Given the description of an element on the screen output the (x, y) to click on. 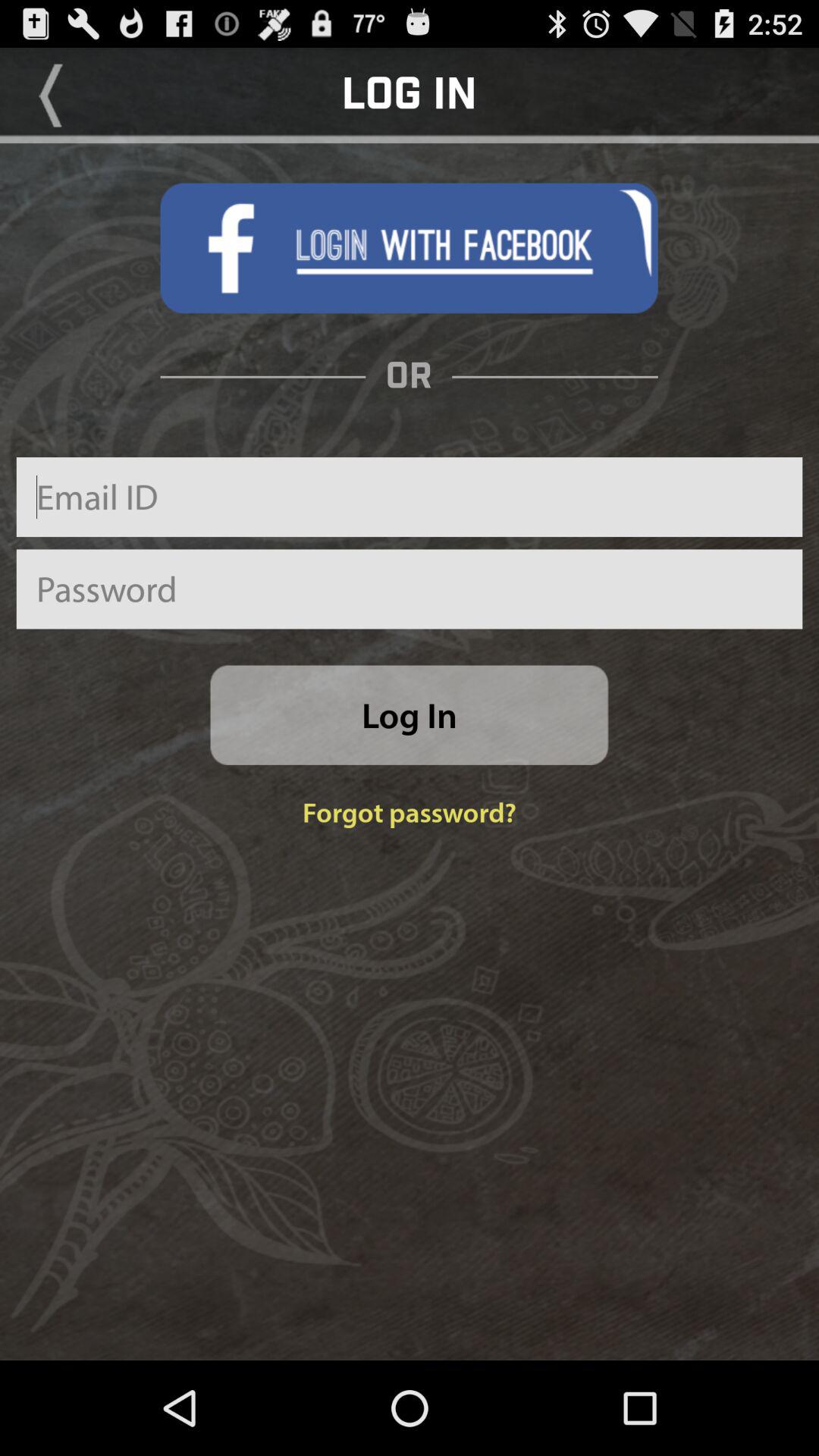
enter email id (409, 496)
